Given the description of an element on the screen output the (x, y) to click on. 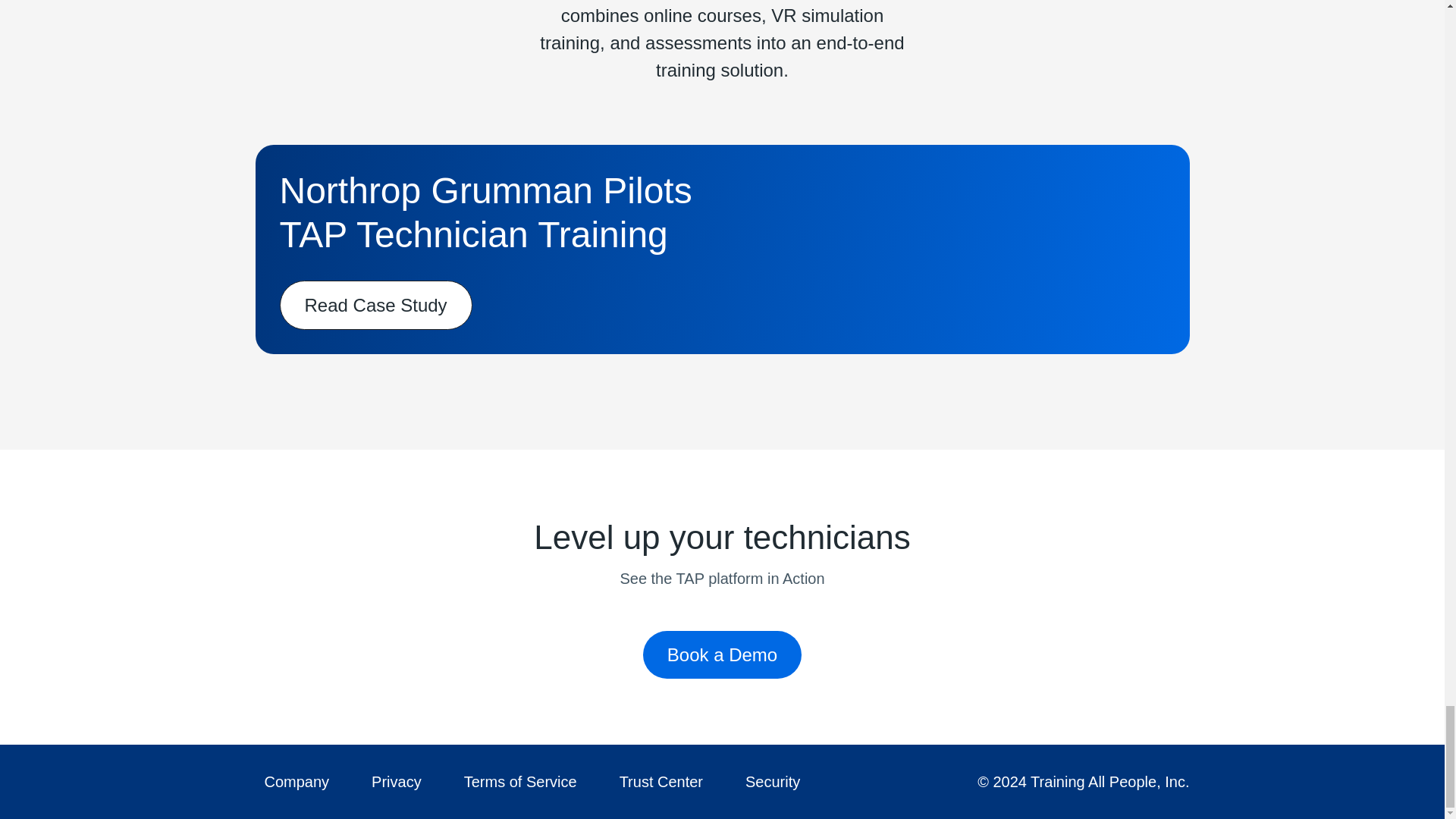
Terms of Service (520, 781)
Read Case Study (375, 305)
Book a Demo (722, 654)
Privacy (396, 781)
Company (295, 781)
Security (772, 781)
Trust Center (660, 781)
